Given the description of an element on the screen output the (x, y) to click on. 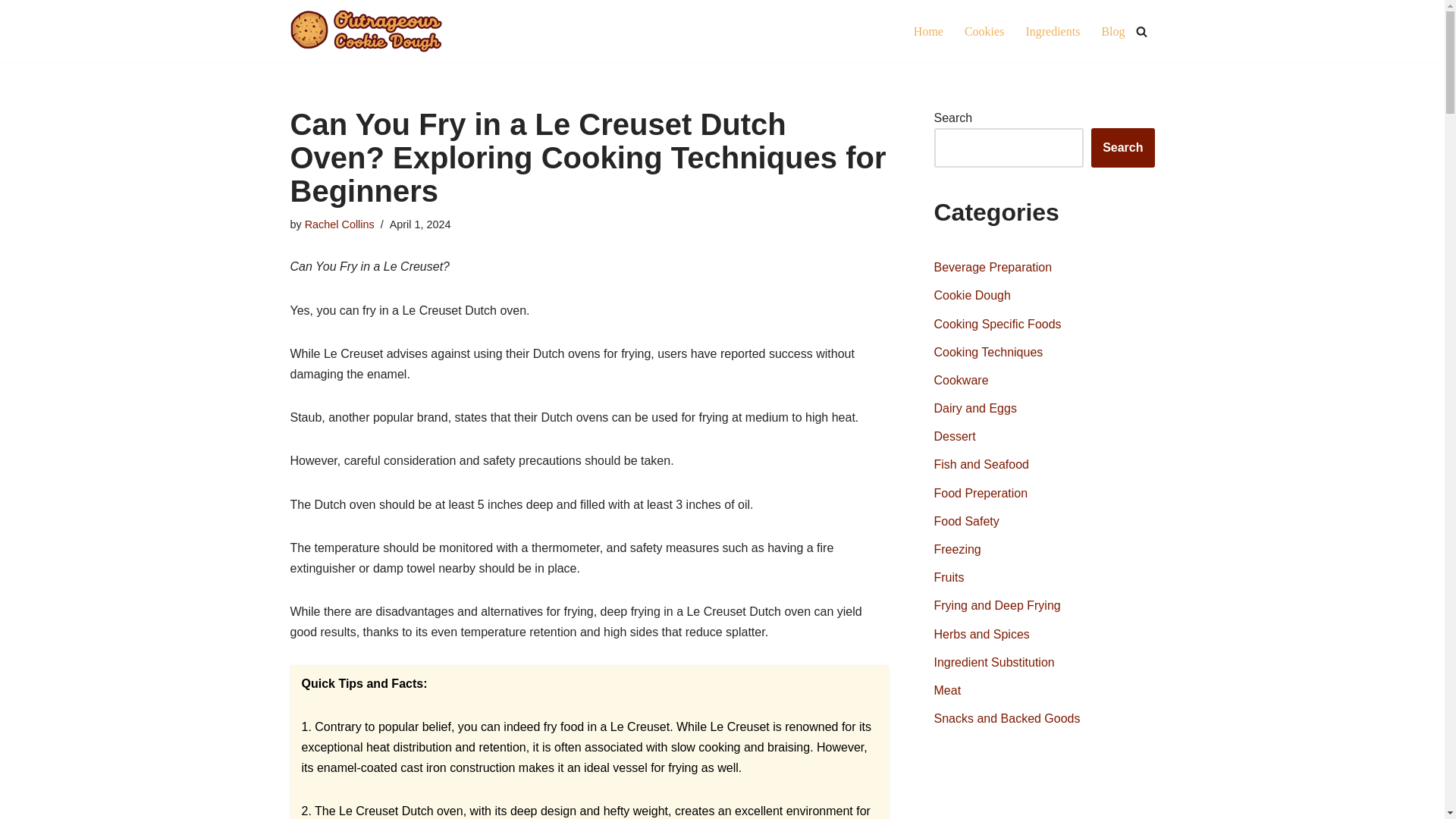
Cookies (983, 31)
Ingredients (1052, 31)
Fish and Seafood (981, 463)
Cooking Techniques (988, 351)
Frying and Deep Frying (997, 604)
Dairy and Eggs (975, 408)
Cookware (961, 379)
Beverage Preparation (993, 267)
Freezing (957, 549)
Search (1122, 147)
